Given the description of an element on the screen output the (x, y) to click on. 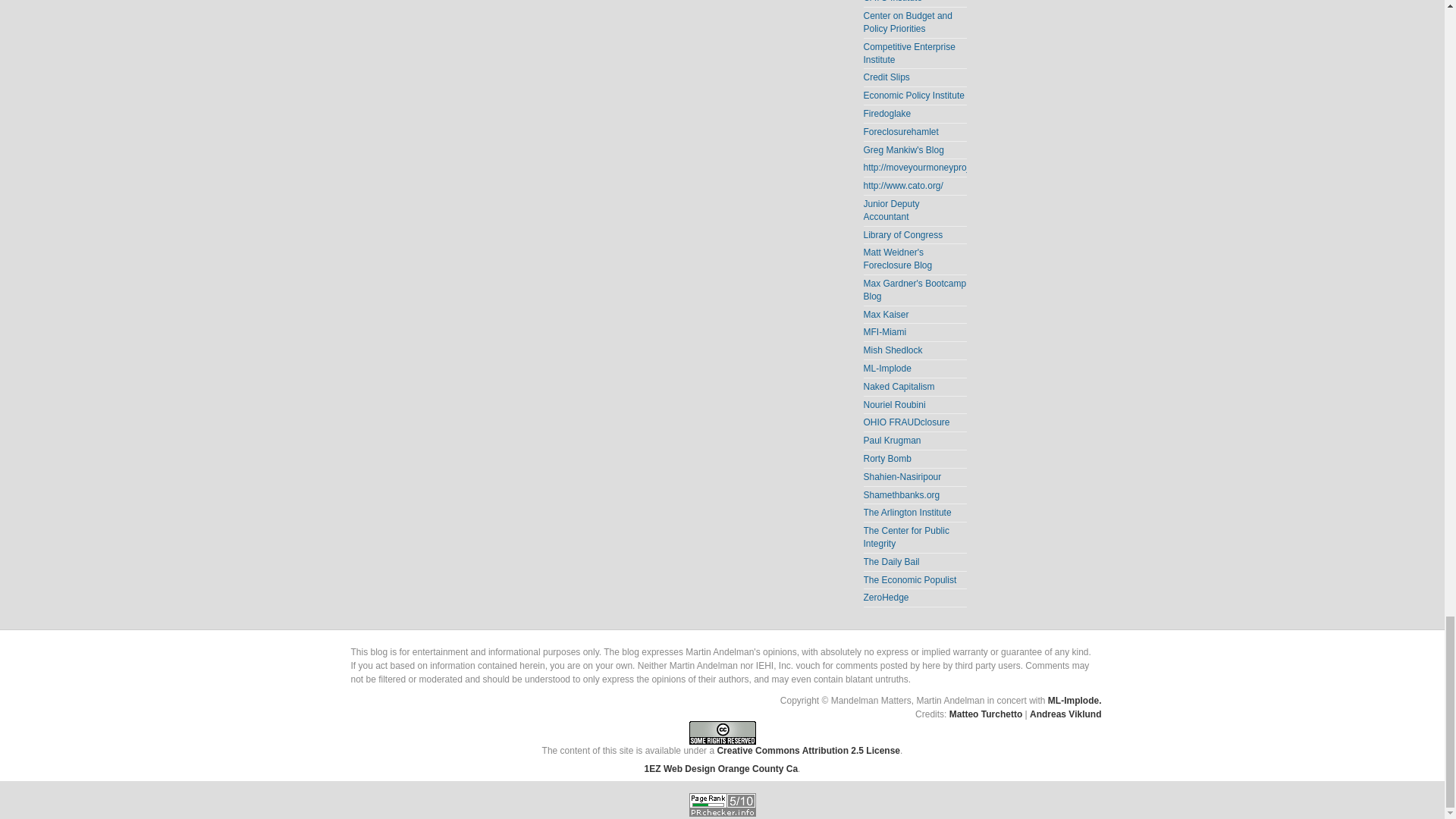
Inspired by Andreas 08 Template (1064, 714)
ML-Implode (887, 368)
OHIO FRAUDclosure (906, 421)
Realized By (985, 714)
